Given the description of an element on the screen output the (x, y) to click on. 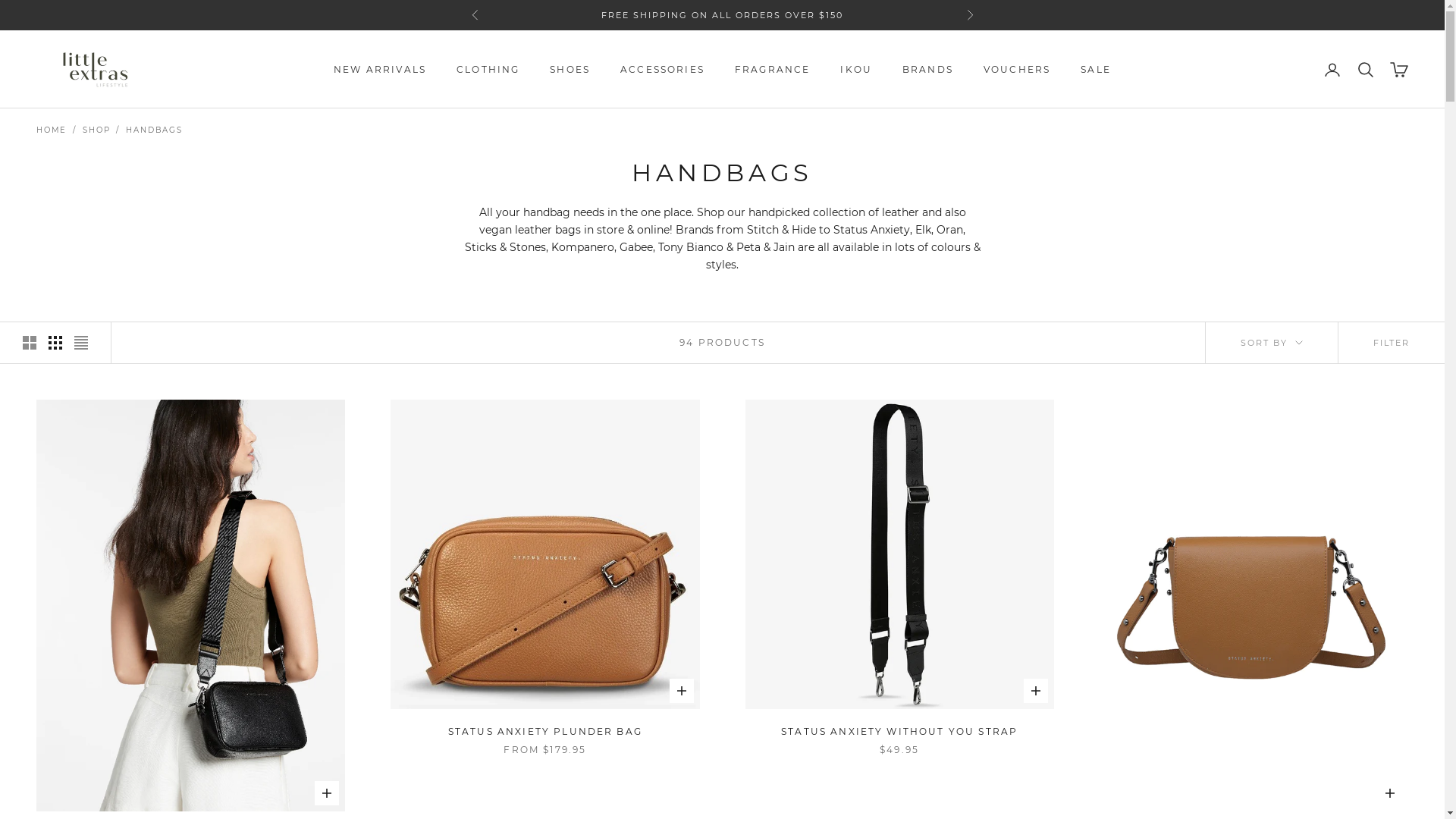
FILTER Element type: text (1391, 342)
Choose options Element type: text (326, 793)
FRAGRANCE Element type: text (771, 69)
BRANDS Element type: text (927, 69)
SORT BY Element type: text (1271, 342)
HANDBAGS Element type: text (153, 129)
SHOP Element type: text (95, 129)
IKOU Element type: text (856, 69)
STATUS ANXIETY PLUNDER BAG Element type: text (545, 731)
Choose options Element type: text (1035, 690)
medium Element type: text (55, 342)
large Element type: text (29, 342)
Next Element type: text (968, 14)
Previous Element type: text (474, 14)
compact Element type: text (80, 342)
NEW ARRIVALS Element type: text (379, 69)
Little Extras Lifestyle Boutique Element type: text (94, 69)
Choose options Element type: text (1389, 793)
Choose options Element type: text (680, 690)
Open cart Element type: text (1399, 69)
HOME Element type: text (51, 129)
Open account page Element type: text (1332, 69)
Open search Element type: text (1365, 69)
STATUS ANXIETY WITHOUT YOU STRAP Element type: text (899, 731)
